Given the description of an element on the screen output the (x, y) to click on. 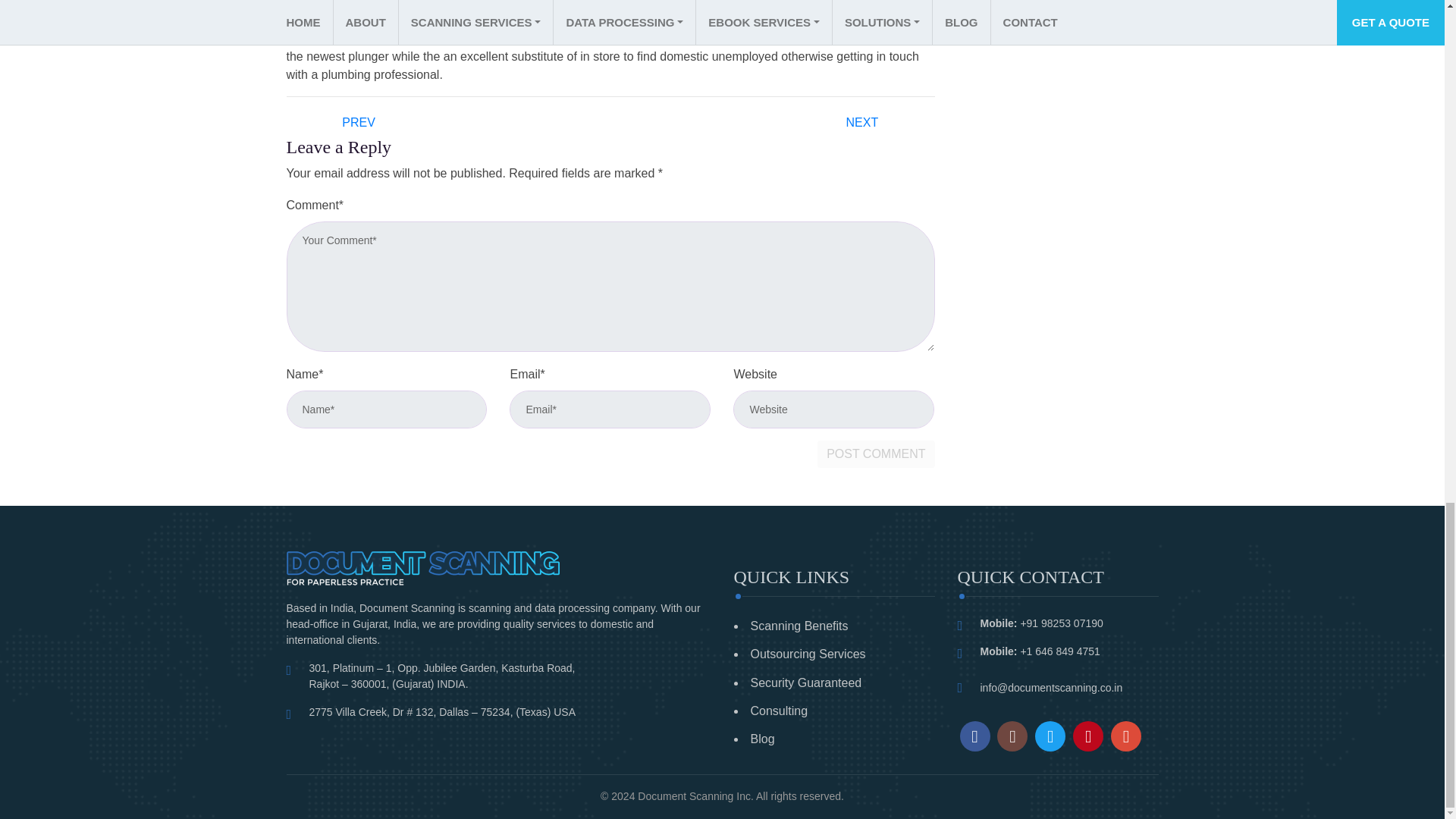
NEXT (862, 122)
PREV (358, 122)
Post Comment (875, 453)
Post Comment (875, 453)
